Given the description of an element on the screen output the (x, y) to click on. 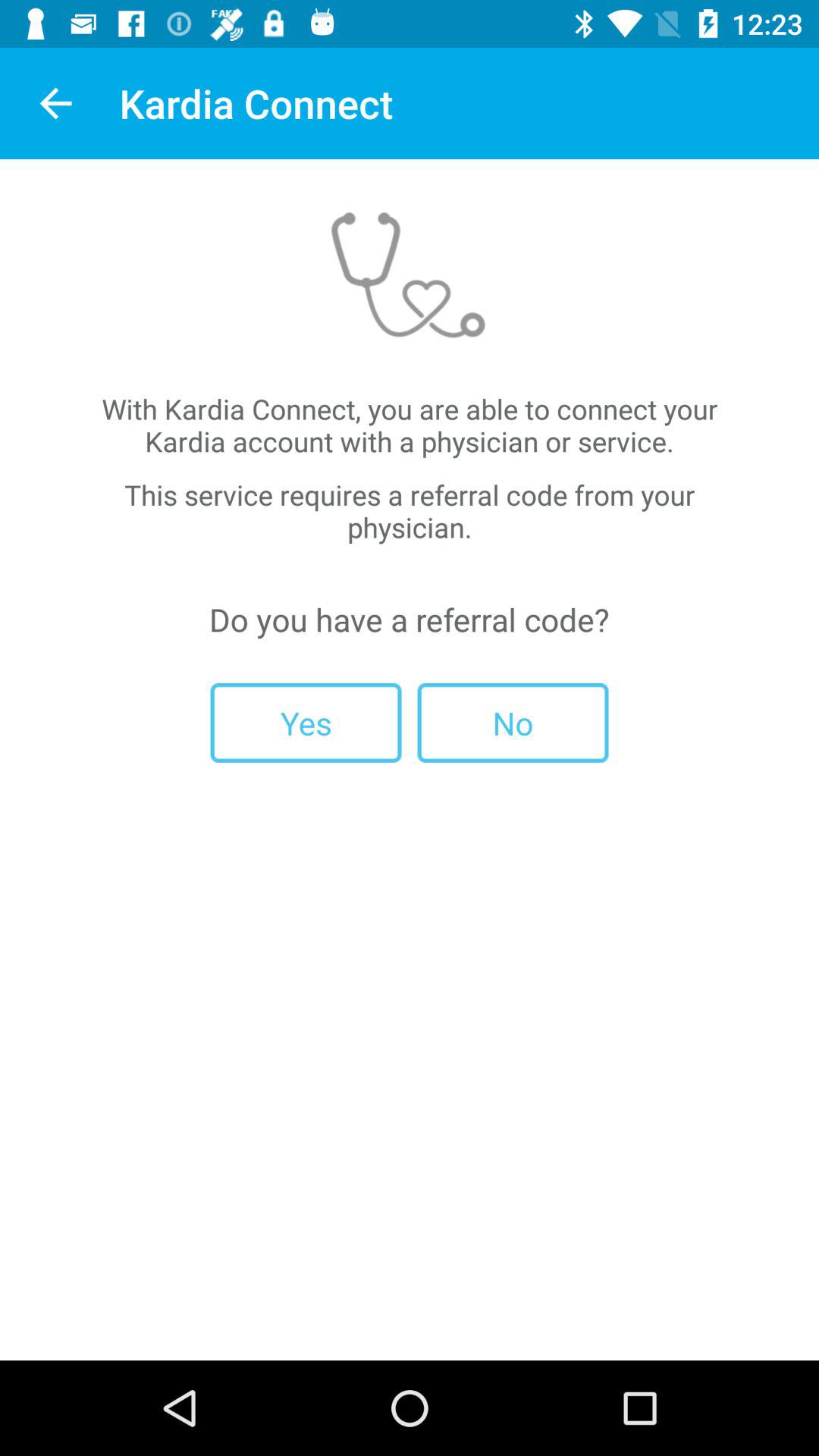
select the icon below do you have icon (305, 722)
